Given the description of an element on the screen output the (x, y) to click on. 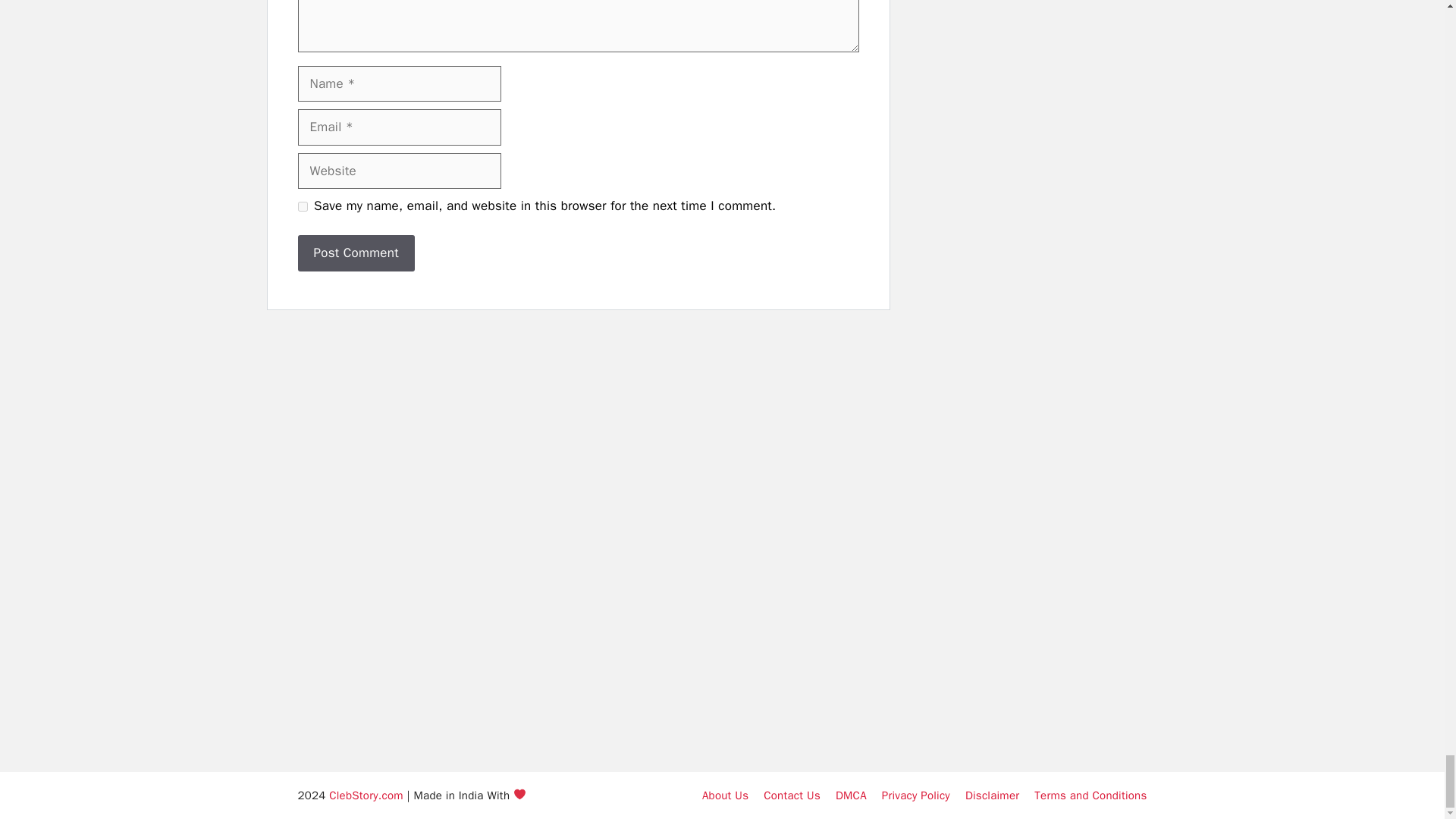
yes (302, 206)
Post Comment (355, 253)
